Given the description of an element on the screen output the (x, y) to click on. 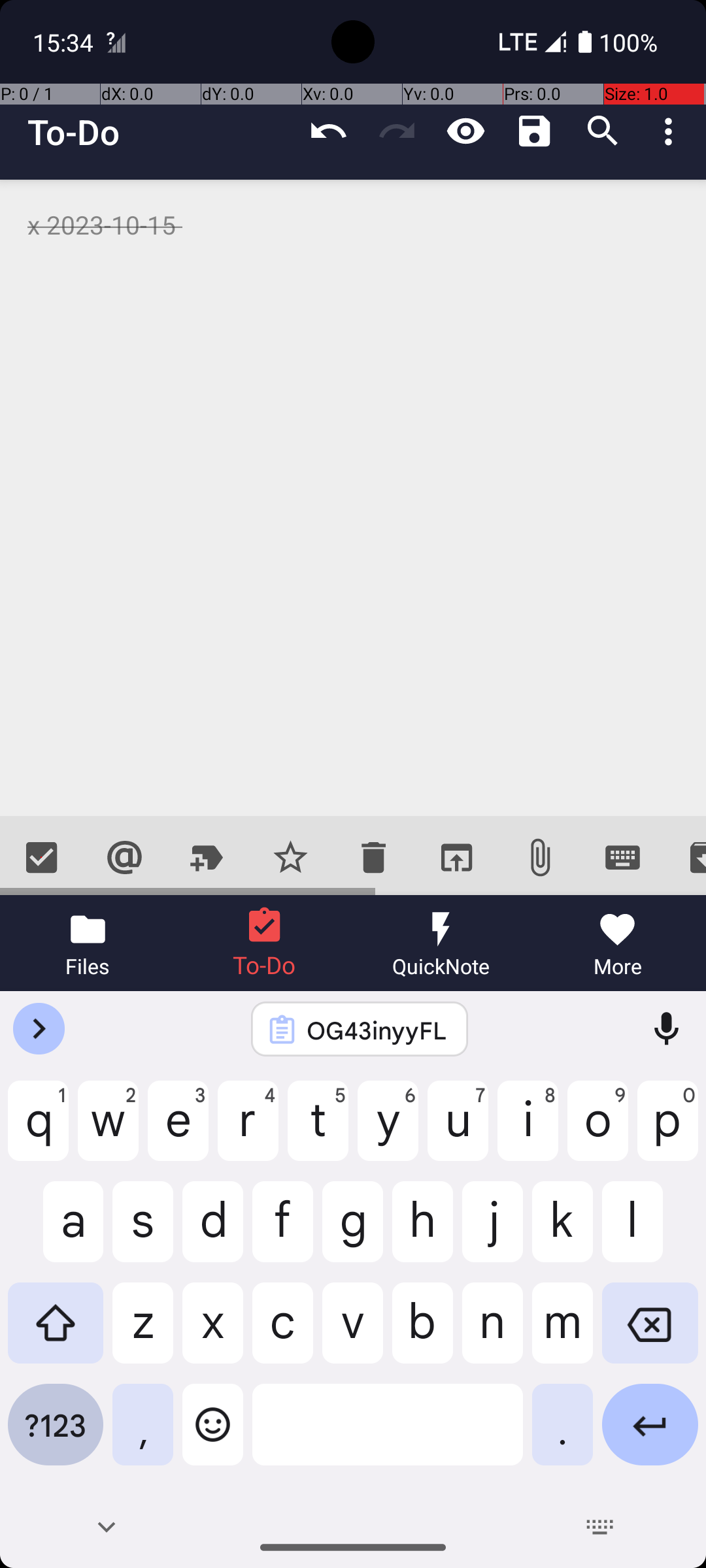
x 2023-10-15  Element type: android.widget.EditText (353, 497)
OG43inyyFL Element type: android.widget.TextView (376, 1029)
